Given the description of an element on the screen output the (x, y) to click on. 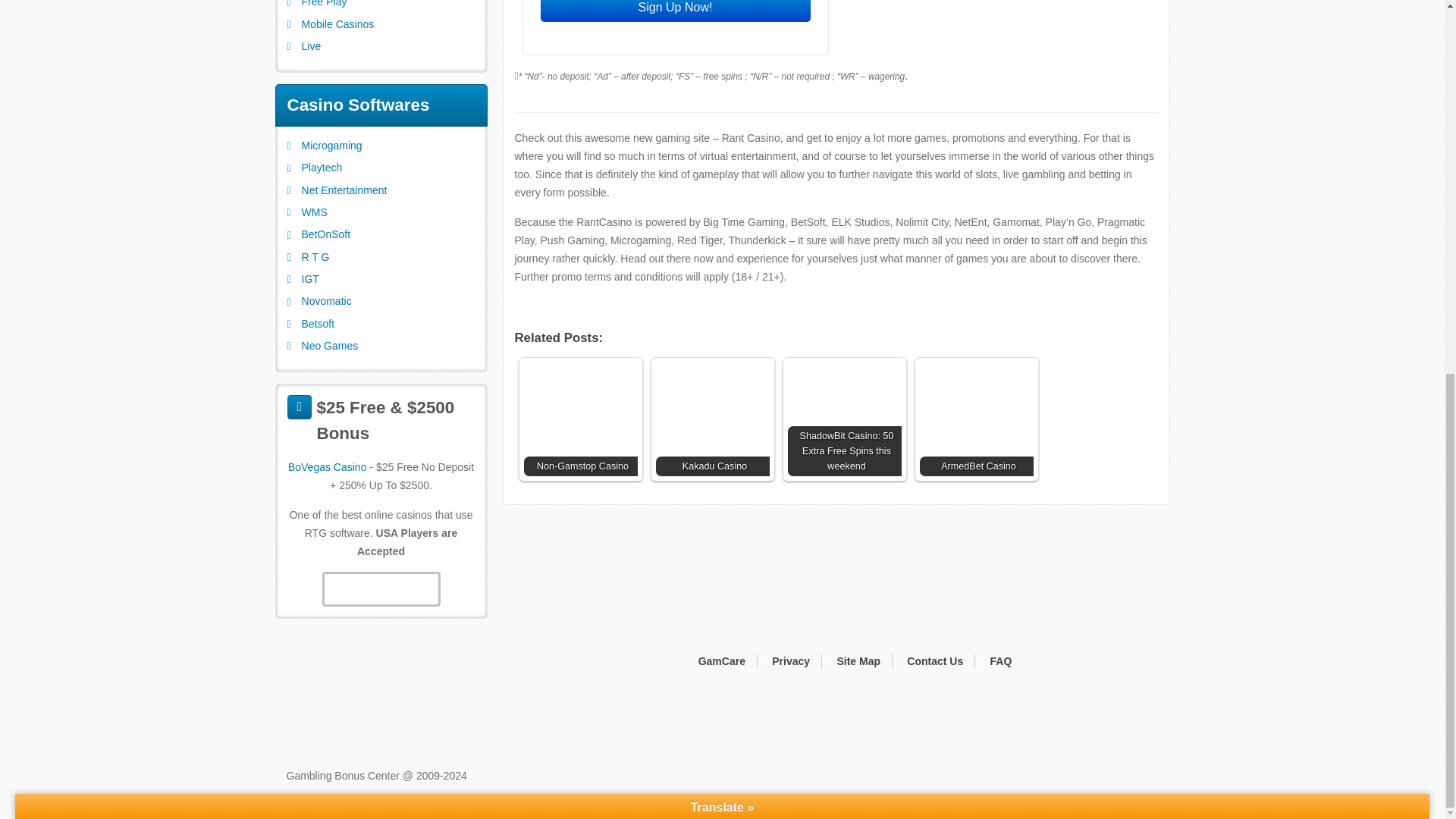
ShadowBit Casino: 50 Extra Free Spins this weekend (844, 418)
ArmedBet Casino (975, 418)
Non-Gamstop Casino (579, 418)
Kakadu Casino (711, 418)
